Given the description of an element on the screen output the (x, y) to click on. 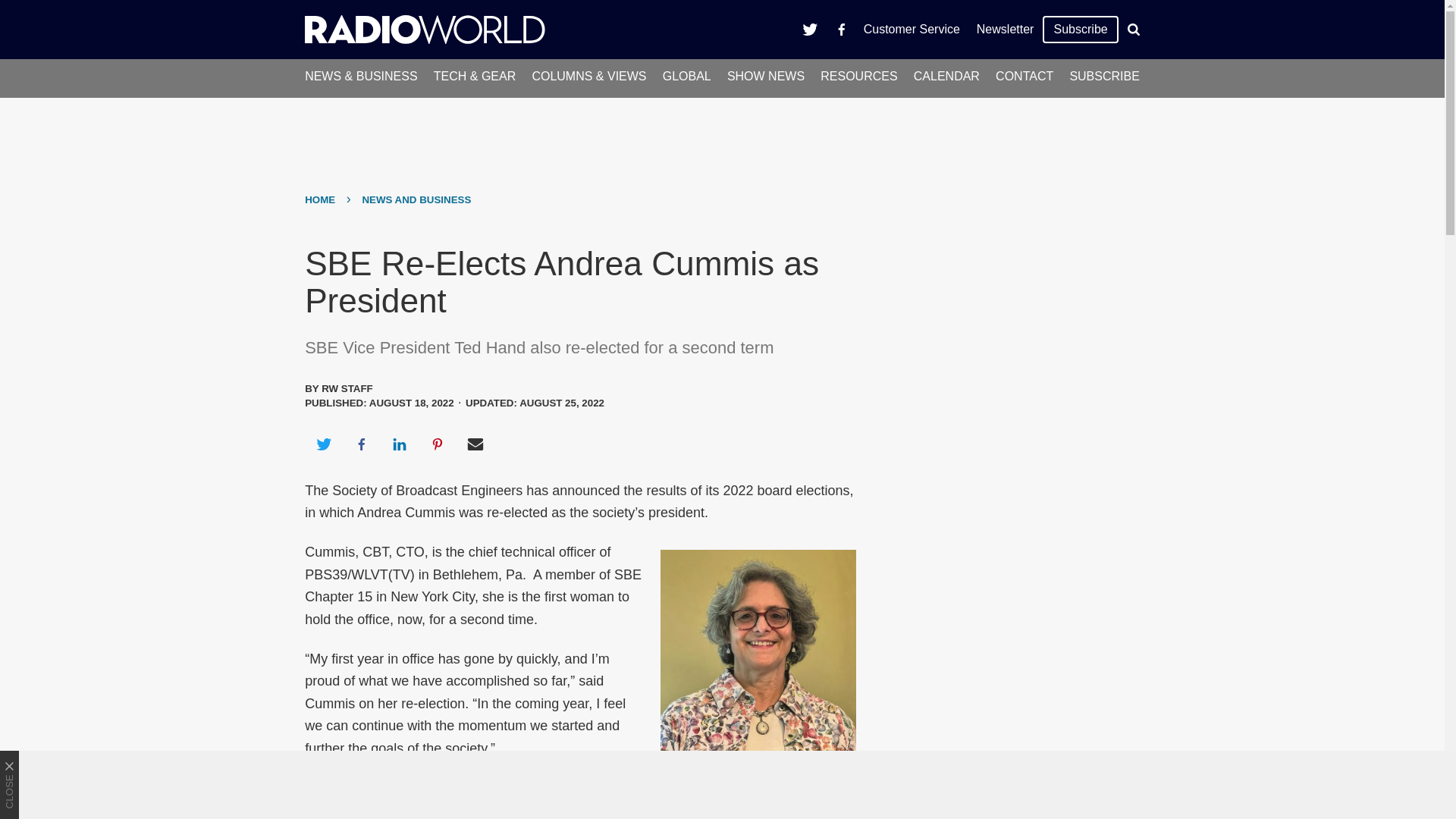
Share on Twitter (323, 444)
Share on Pinterest (438, 444)
Share on LinkedIn (399, 444)
Customer Service (912, 29)
Share via Email (476, 444)
Share on Facebook (361, 444)
